Given the description of an element on the screen output the (x, y) to click on. 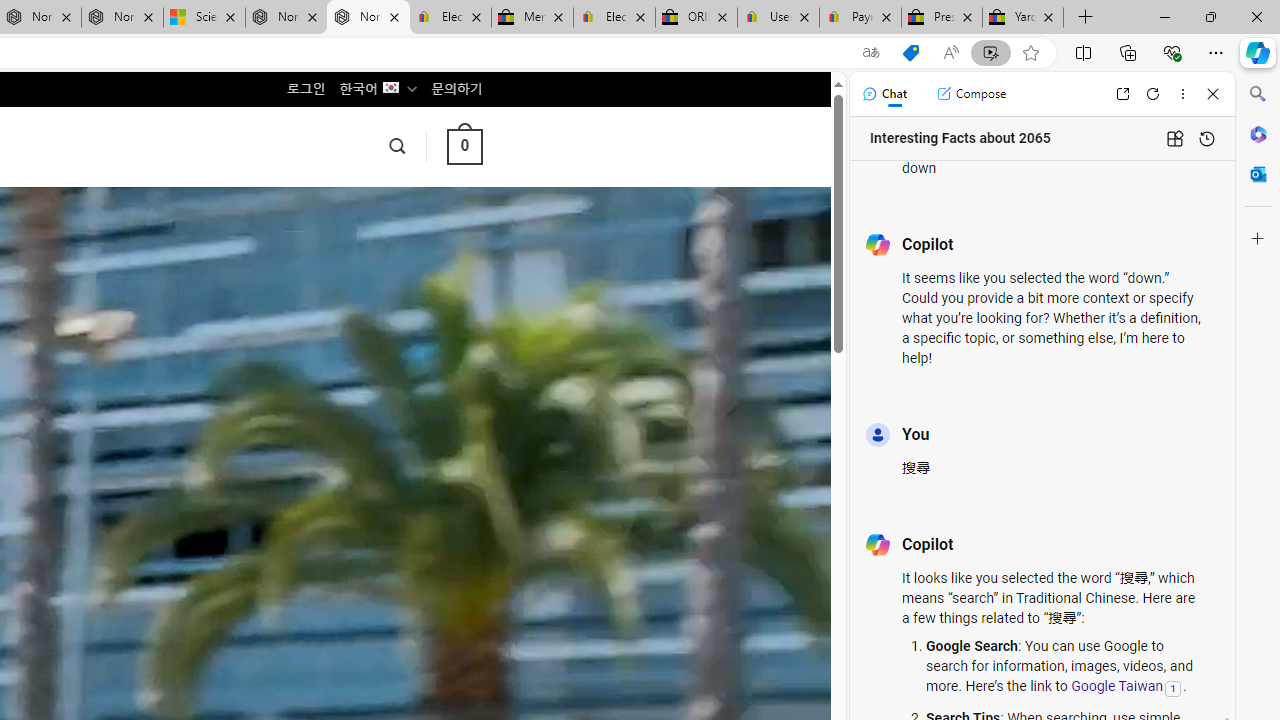
Yard, Garden & Outdoor Living (1023, 17)
This site has coupons! Shopping in Microsoft Edge (910, 53)
Compose (971, 93)
Enhance video (991, 53)
